Given the description of an element on the screen output the (x, y) to click on. 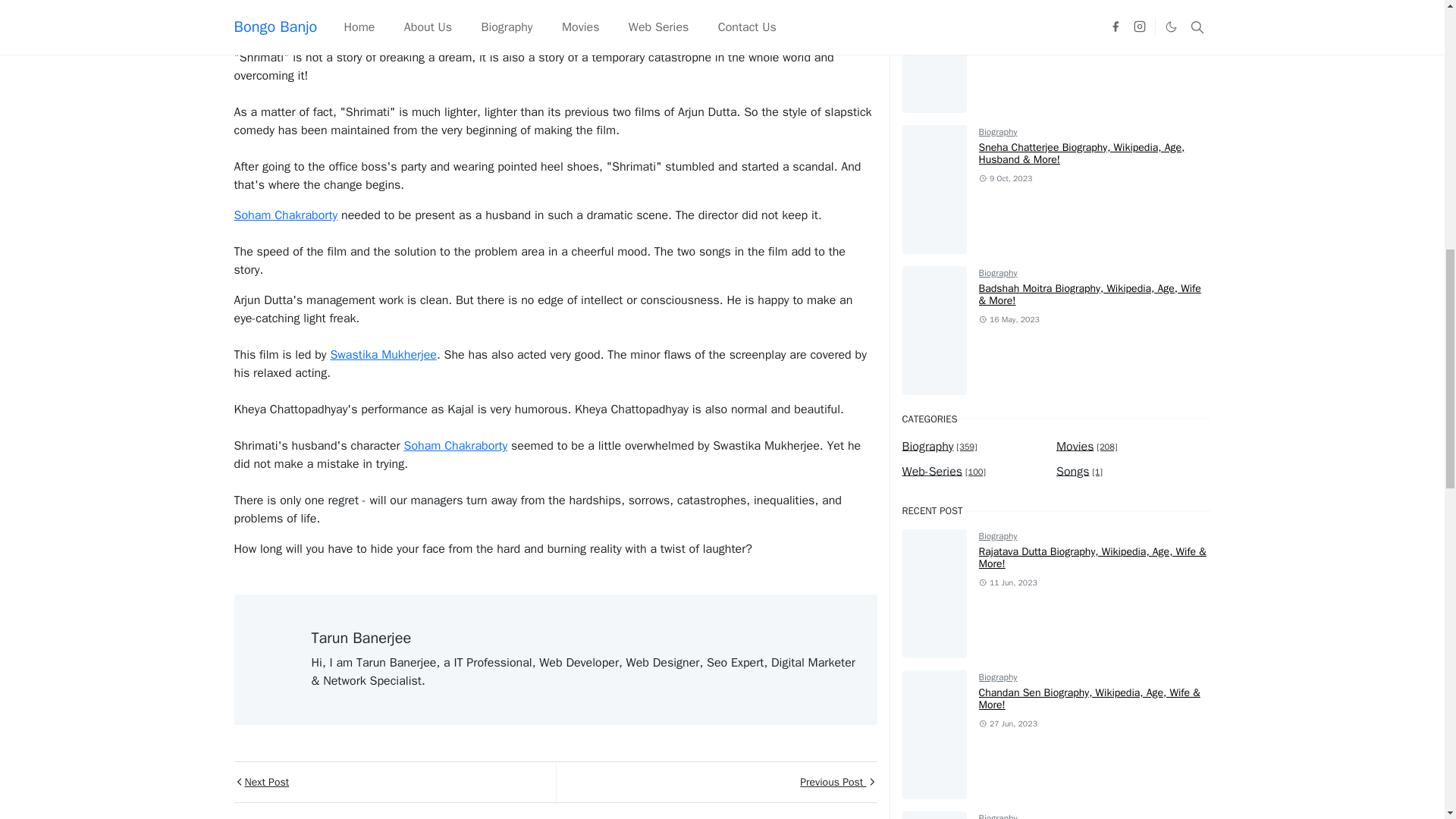
Soham Chakraborty (454, 445)
Next Post (393, 782)
Soham Chakraborty (284, 215)
Previous Post (715, 782)
Swastika Mukherjee (383, 354)
